Given the description of an element on the screen output the (x, y) to click on. 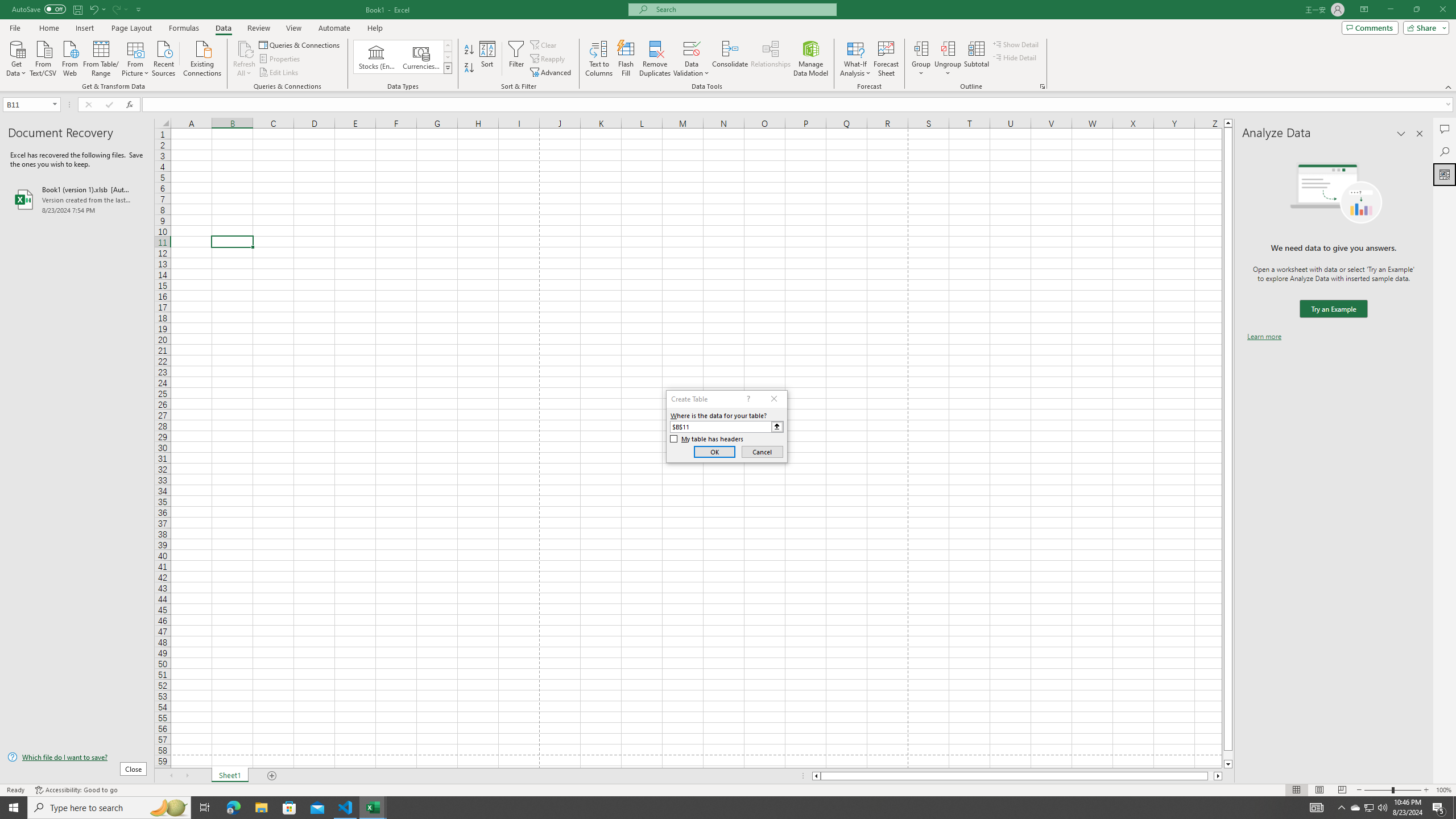
Home (48, 28)
Text to Columns... (598, 58)
Show Detail (1016, 44)
Filter (515, 58)
Collapse the Ribbon (1448, 86)
Line down (1228, 764)
Book1 (version 1).xlsb  [AutoRecovered] (77, 199)
Row Down (448, 56)
Zoom Out (1377, 790)
Relationships (770, 58)
Queries & Connections (300, 44)
Undo (92, 9)
Minimize (1390, 9)
View (293, 28)
